Given the description of an element on the screen output the (x, y) to click on. 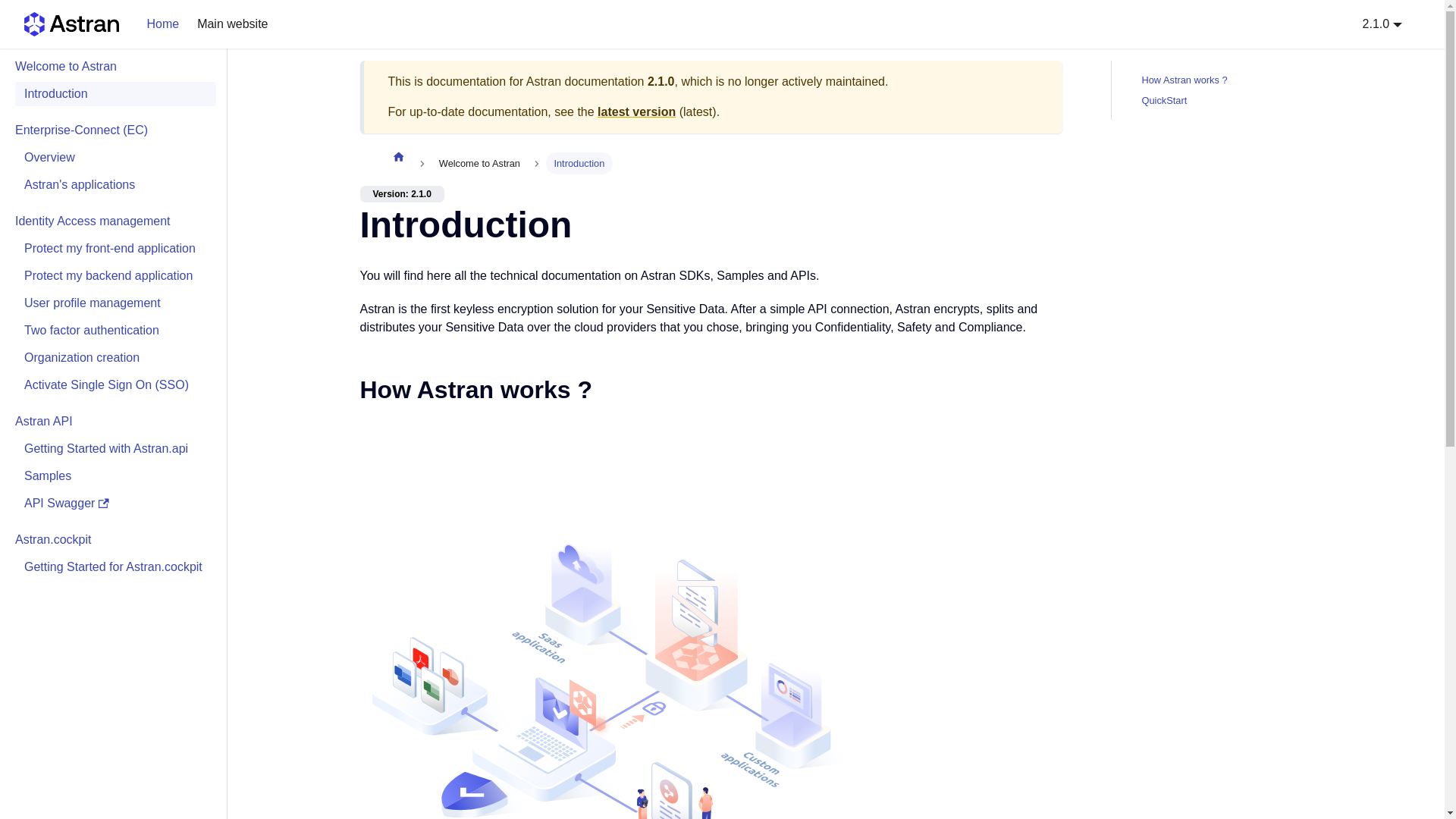
Overview (114, 157)
Identity Access management (110, 221)
API Swagger (114, 503)
Samples (114, 476)
Home (161, 24)
Astran API (110, 421)
Organization creation (114, 357)
Getting Started for Astran.cockpit (1210, 89)
Protect my front-end application (114, 567)
